Given the description of an element on the screen output the (x, y) to click on. 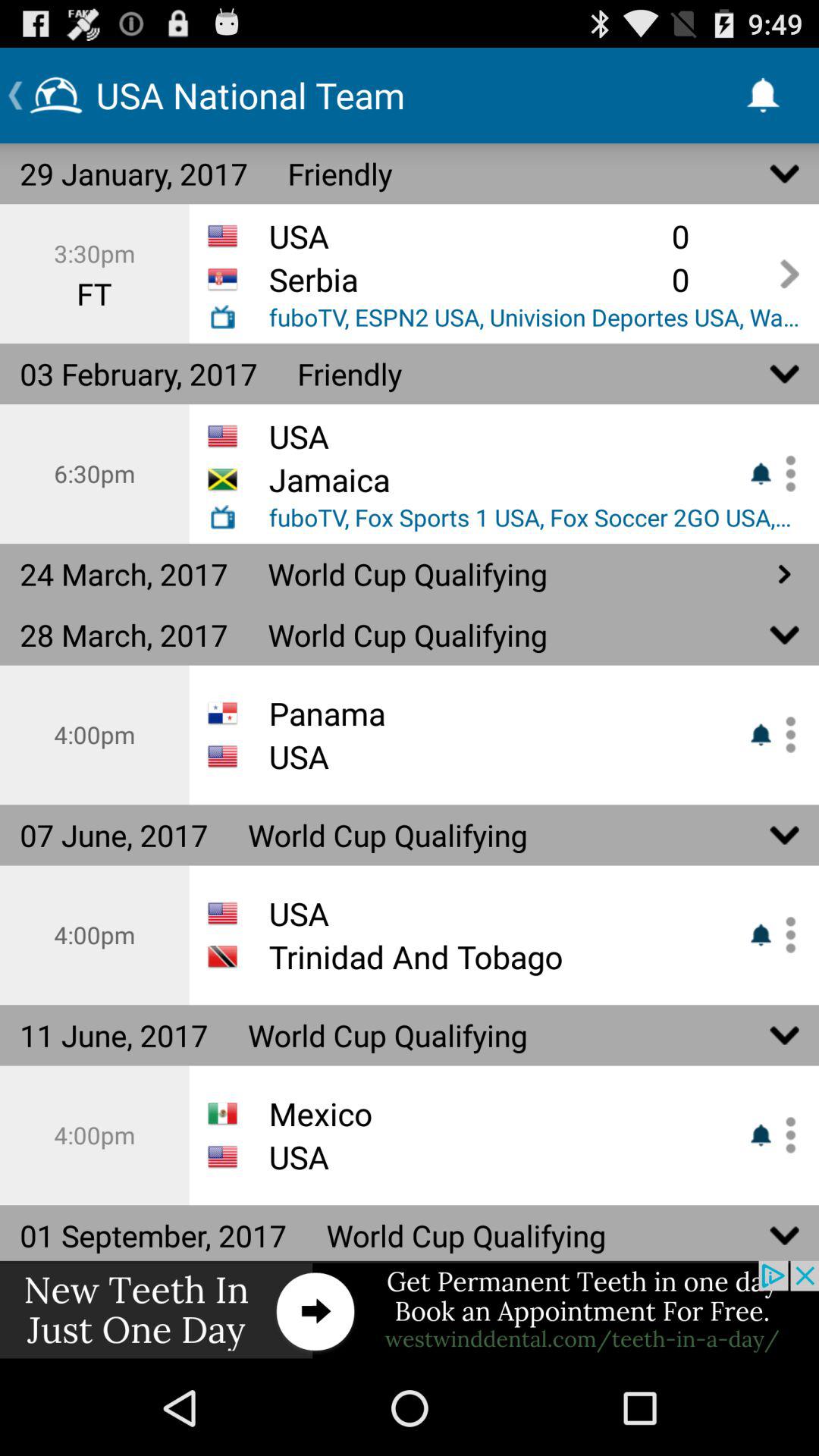
enable or disable notification (785, 1135)
